Given the description of an element on the screen output the (x, y) to click on. 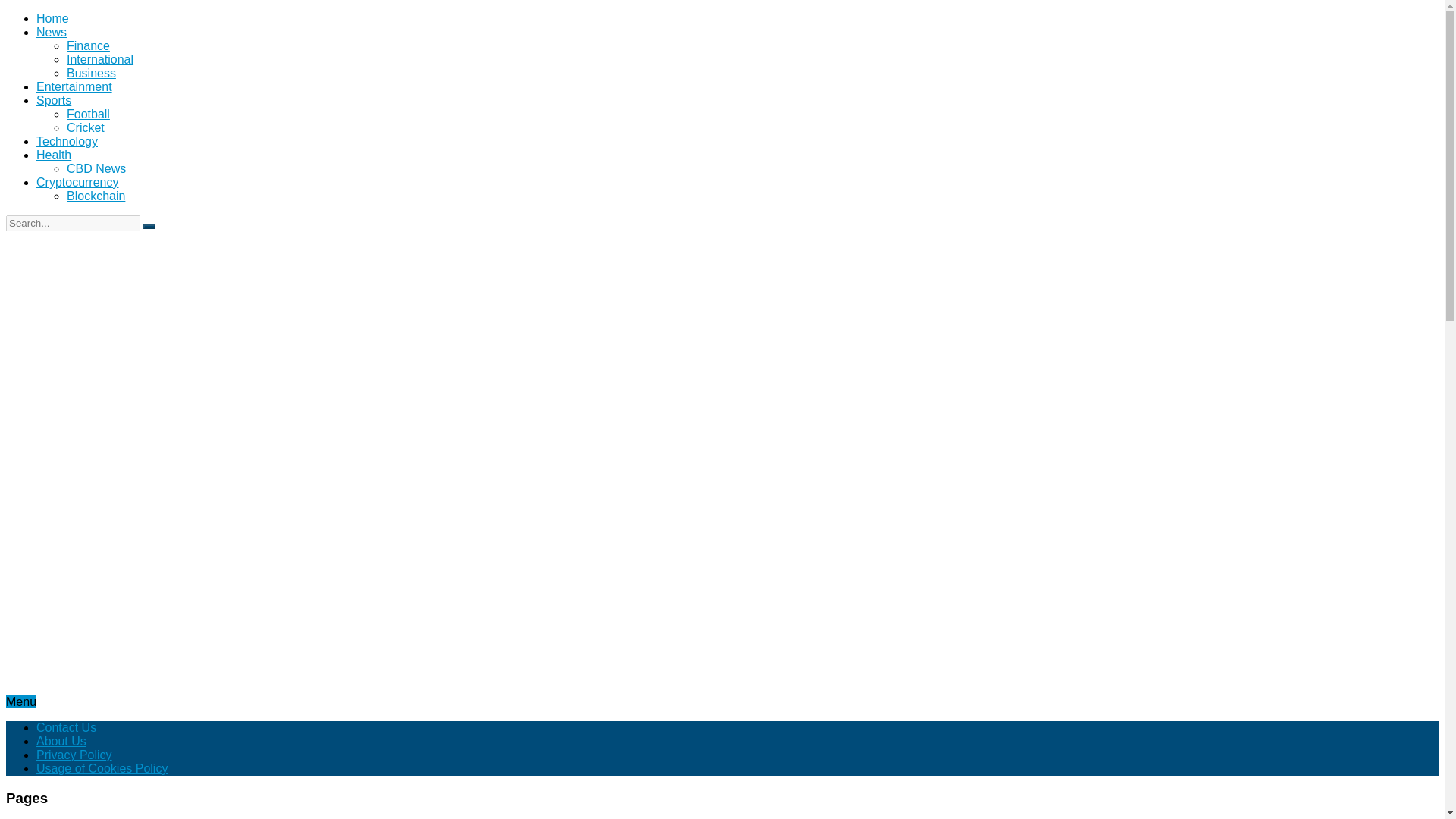
International (99, 59)
Contact Us (66, 727)
Business (91, 72)
About Us (60, 740)
Sports (53, 100)
Football (88, 113)
CBD News (95, 168)
Technology (66, 141)
Privacy Policy (74, 754)
Health (53, 154)
